Given the description of an element on the screen output the (x, y) to click on. 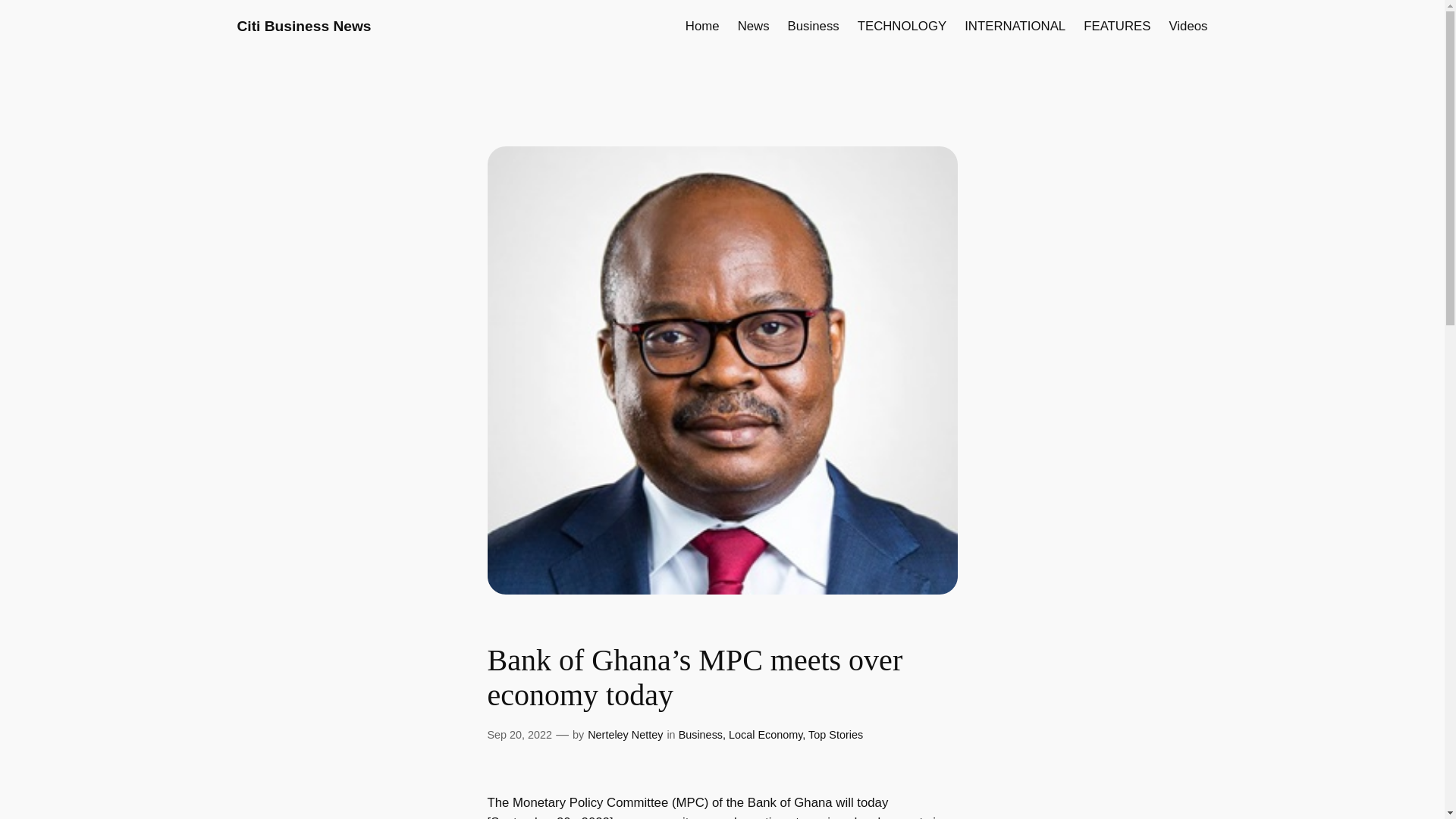
Business (813, 26)
Home (702, 26)
FEATURES (1116, 26)
Citi Business News (303, 26)
INTERNATIONAL (1014, 26)
News (754, 26)
Sep 20, 2022 (518, 734)
Top Stories (835, 734)
Nerteley Nettey (625, 734)
Business (700, 734)
